Given the description of an element on the screen output the (x, y) to click on. 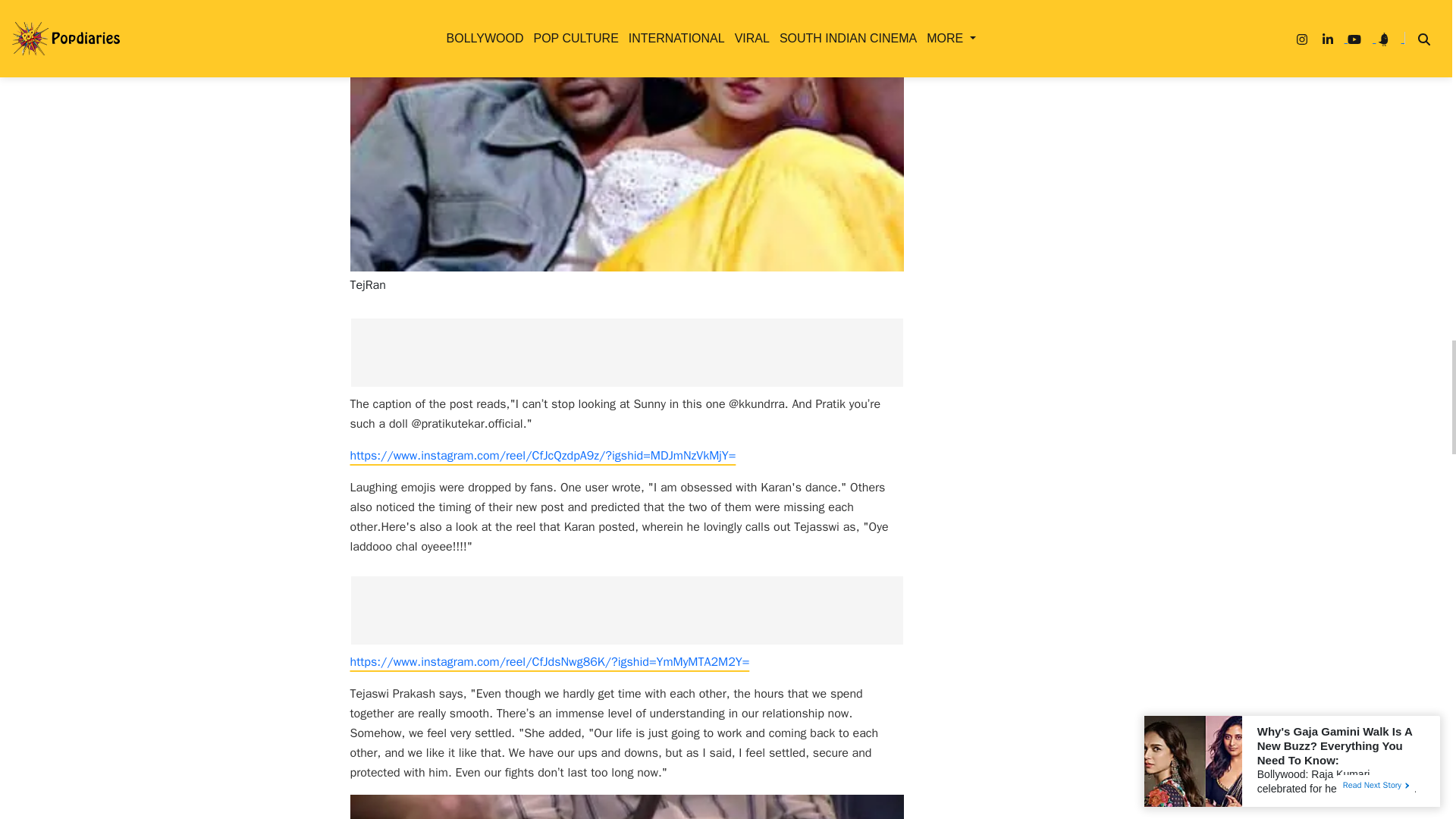
publive-image (627, 806)
